Given the description of an element on the screen output the (x, y) to click on. 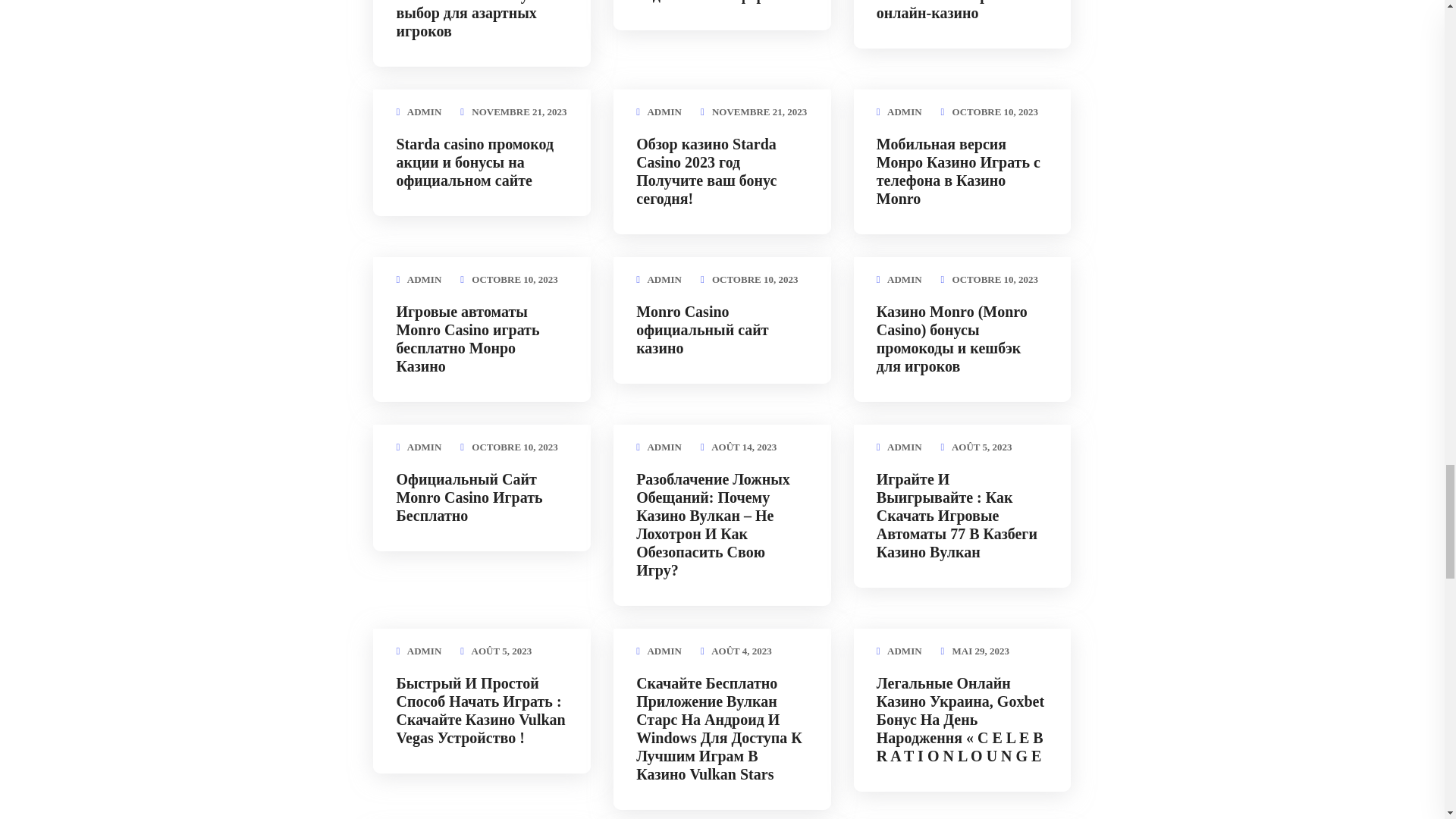
ADMIN (663, 111)
NOVEMBRE 21, 2023 (518, 111)
ADMIN (424, 111)
